Given the description of an element on the screen output the (x, y) to click on. 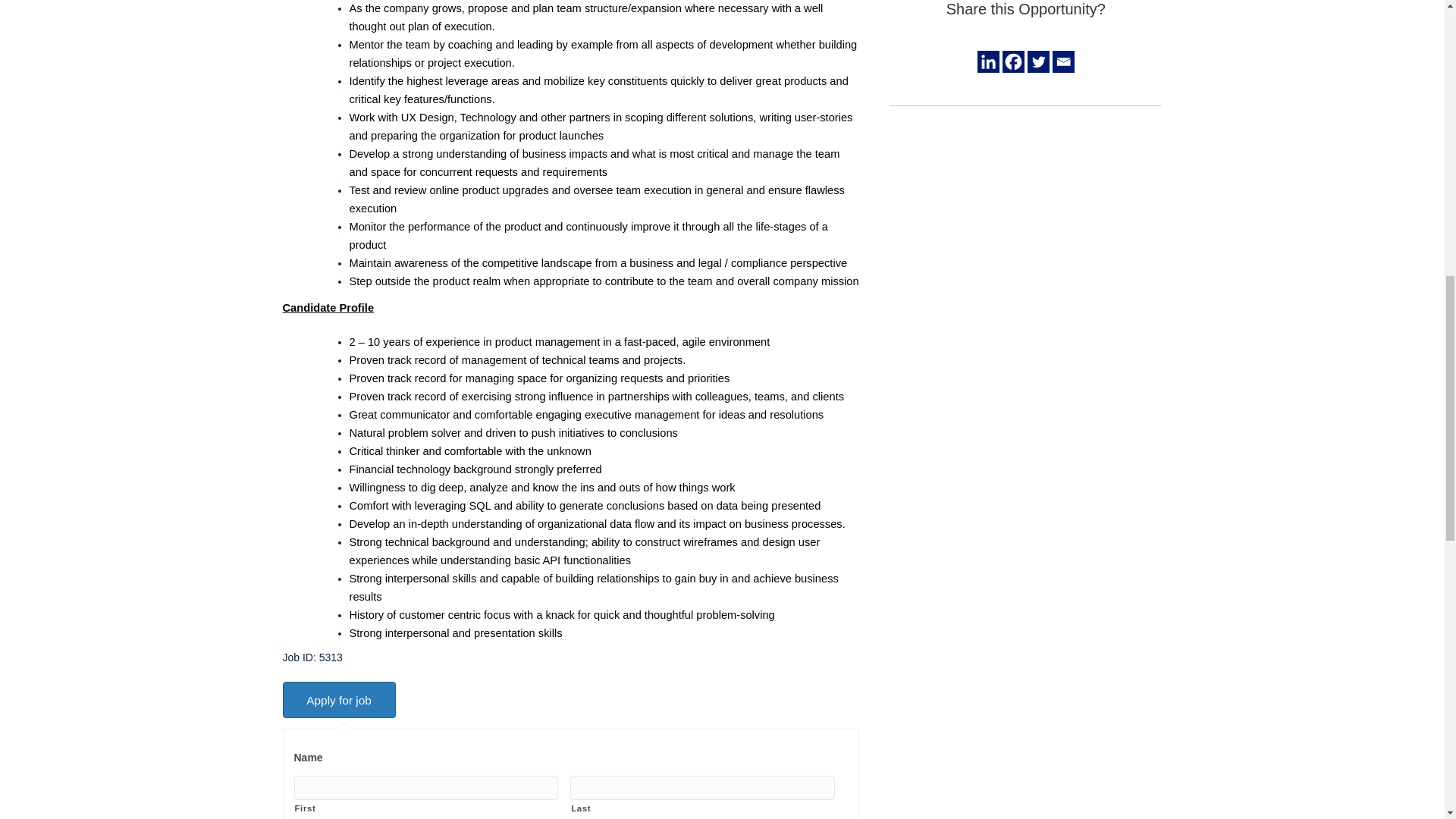
Facebook (1014, 61)
Linkedin (987, 61)
Email (1063, 61)
Apply for job (338, 699)
Twitter (1038, 61)
